Given the description of an element on the screen output the (x, y) to click on. 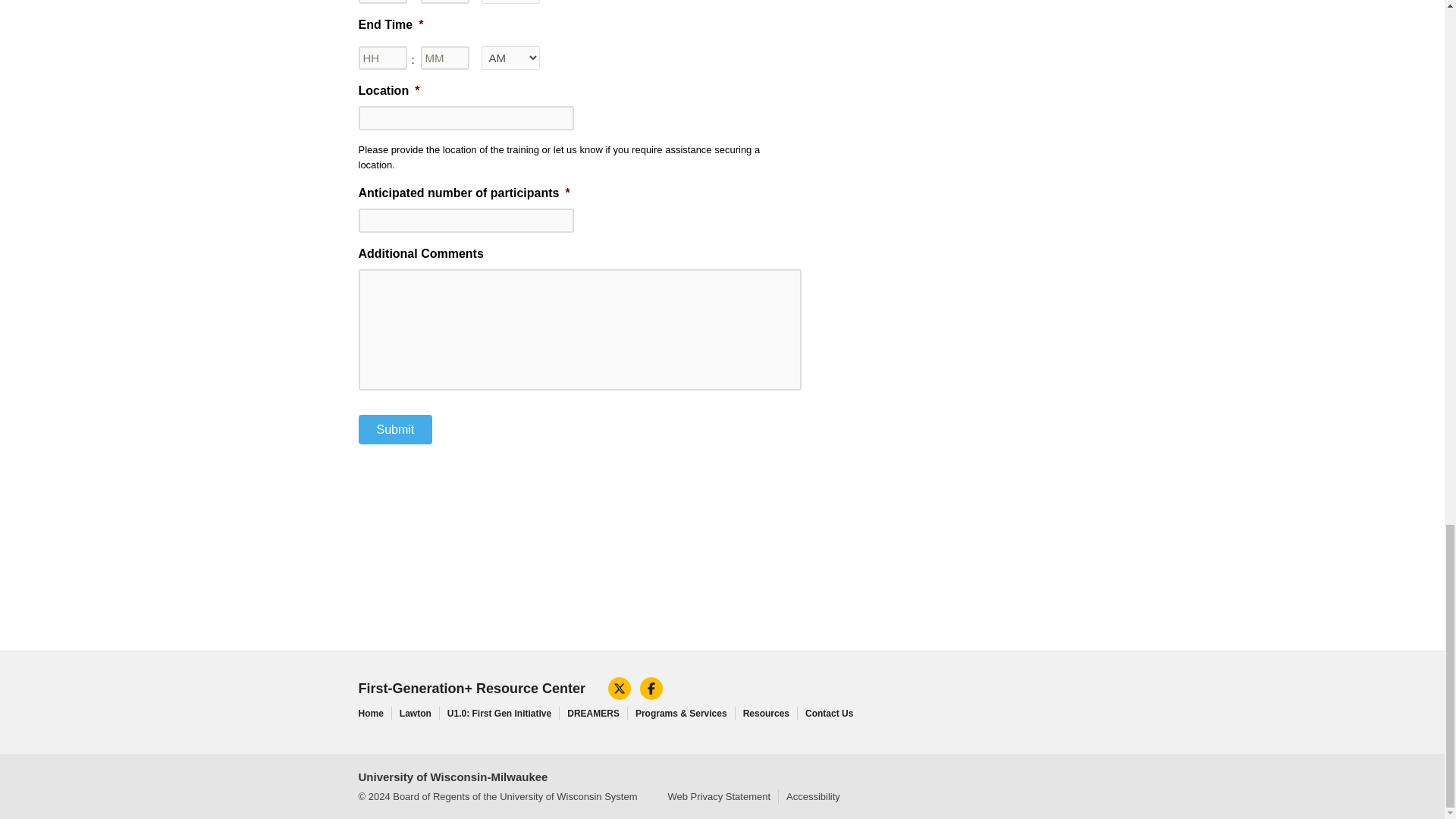
Submit (395, 429)
